Given the description of an element on the screen output the (x, y) to click on. 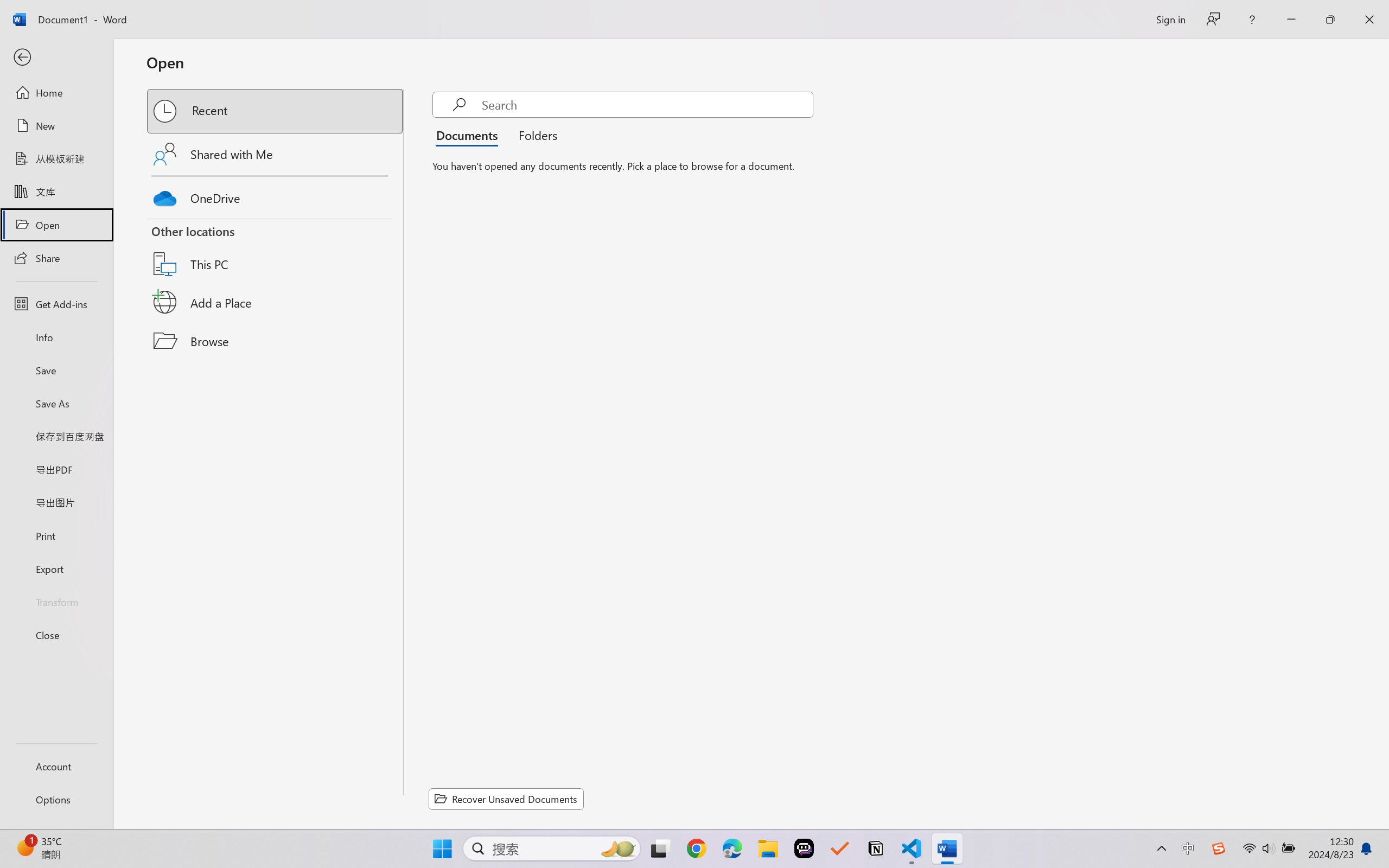
Info (56, 337)
This PC (275, 249)
Get Add-ins (56, 303)
Recent (275, 110)
Shared with Me (275, 153)
OneDrive (275, 195)
Save As (56, 403)
